Given the description of an element on the screen output the (x, y) to click on. 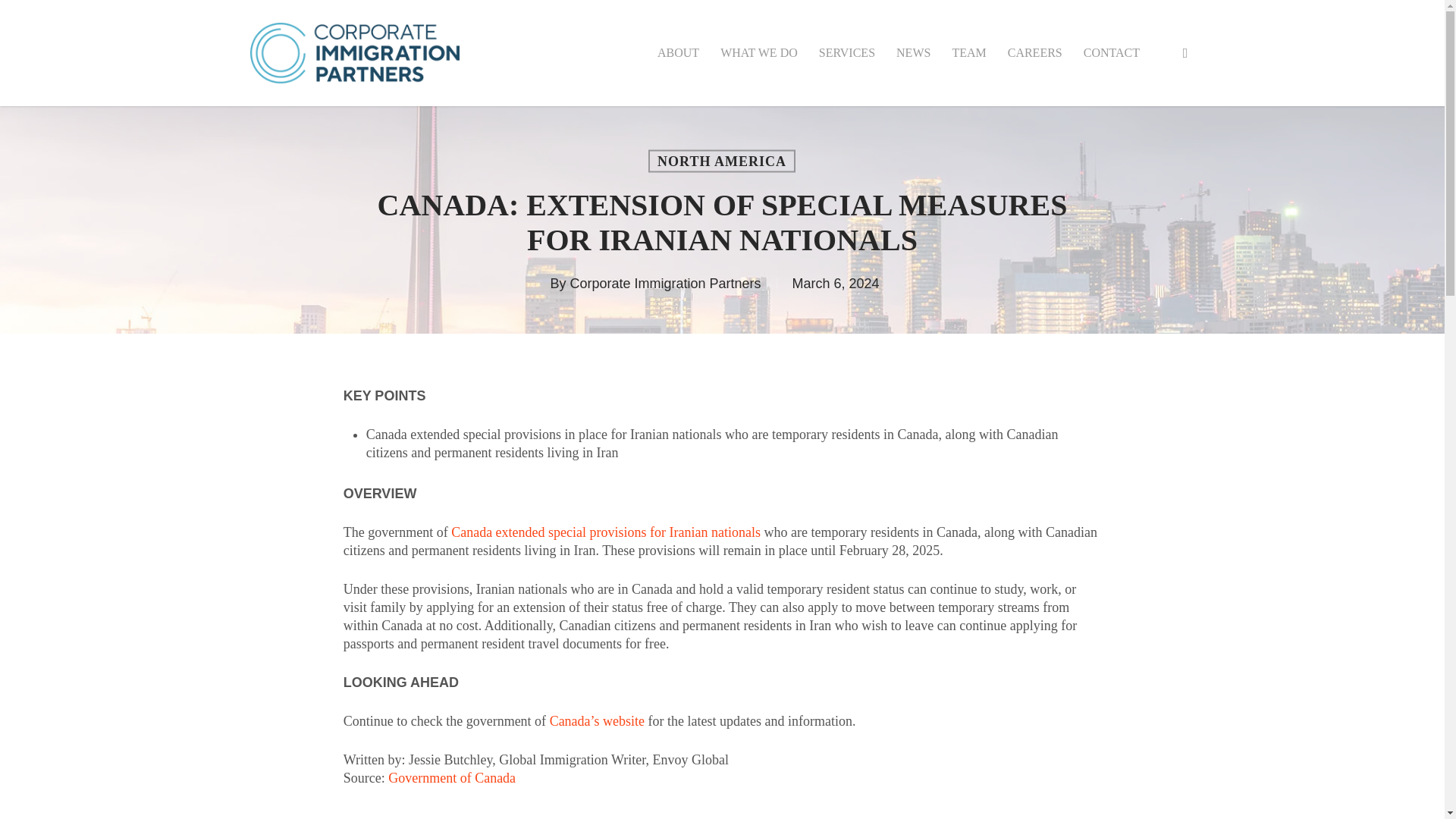
SERVICES (846, 52)
Corporate Immigration Partners (664, 283)
CONTACT (1111, 52)
ABOUT (678, 52)
Canada extended special provisions for Iranian nationals (605, 531)
WHAT WE DO (758, 52)
search (1184, 52)
NEWS (913, 52)
NORTH AMERICA (720, 160)
TEAM (968, 52)
Government of Canada (451, 777)
CAREERS (1034, 52)
Posts by Corporate Immigration Partners (664, 283)
